Given the description of an element on the screen output the (x, y) to click on. 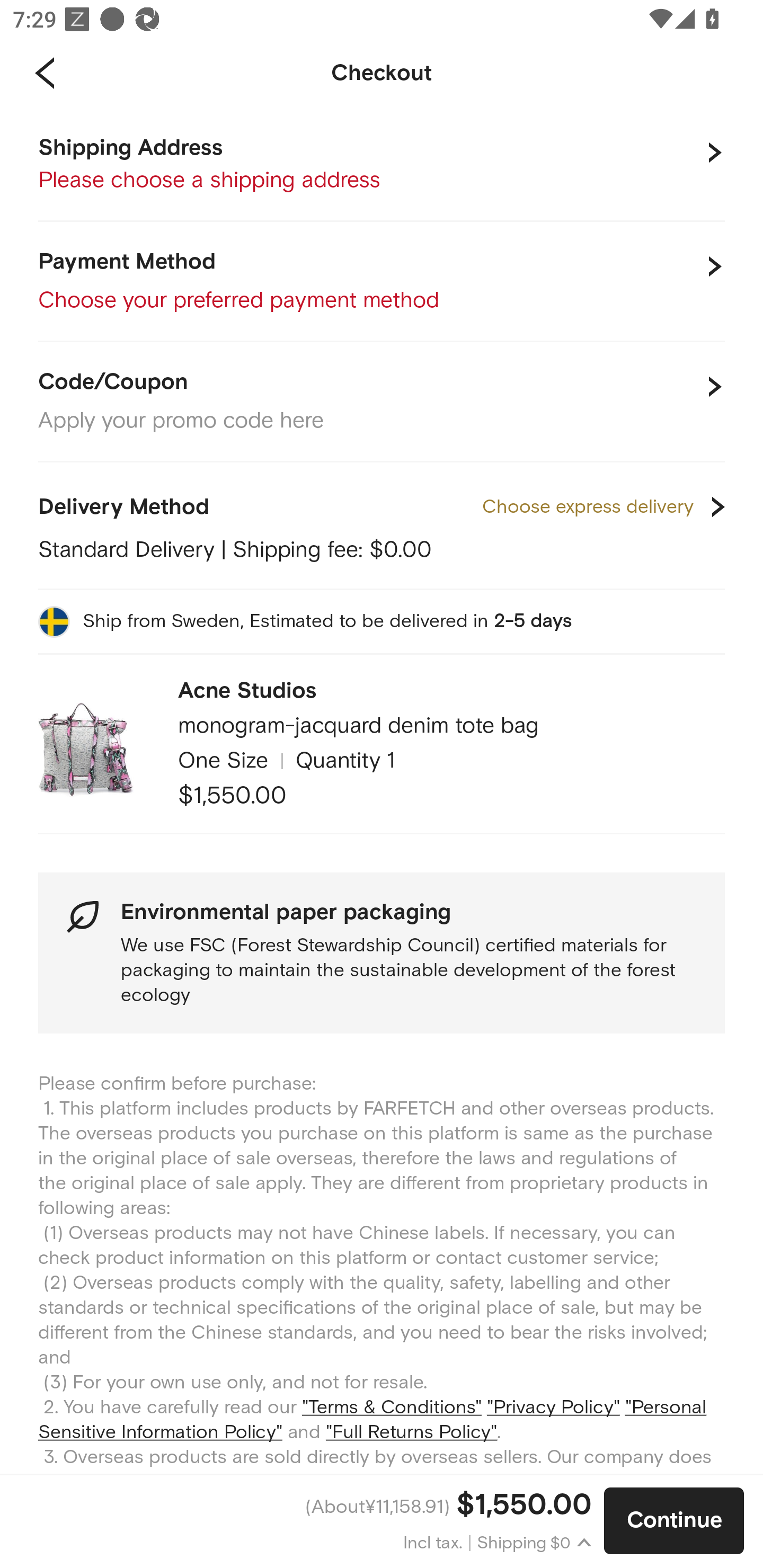
Shipping Address Please choose a shipping address (381, 165)
Code/Coupon Apply your promo code here (381, 401)
(About¥11,158.91) $1,550.00 Incl tax. Shipping $0 (302, 1520)
Continue (673, 1520)
